Given the description of an element on the screen output the (x, y) to click on. 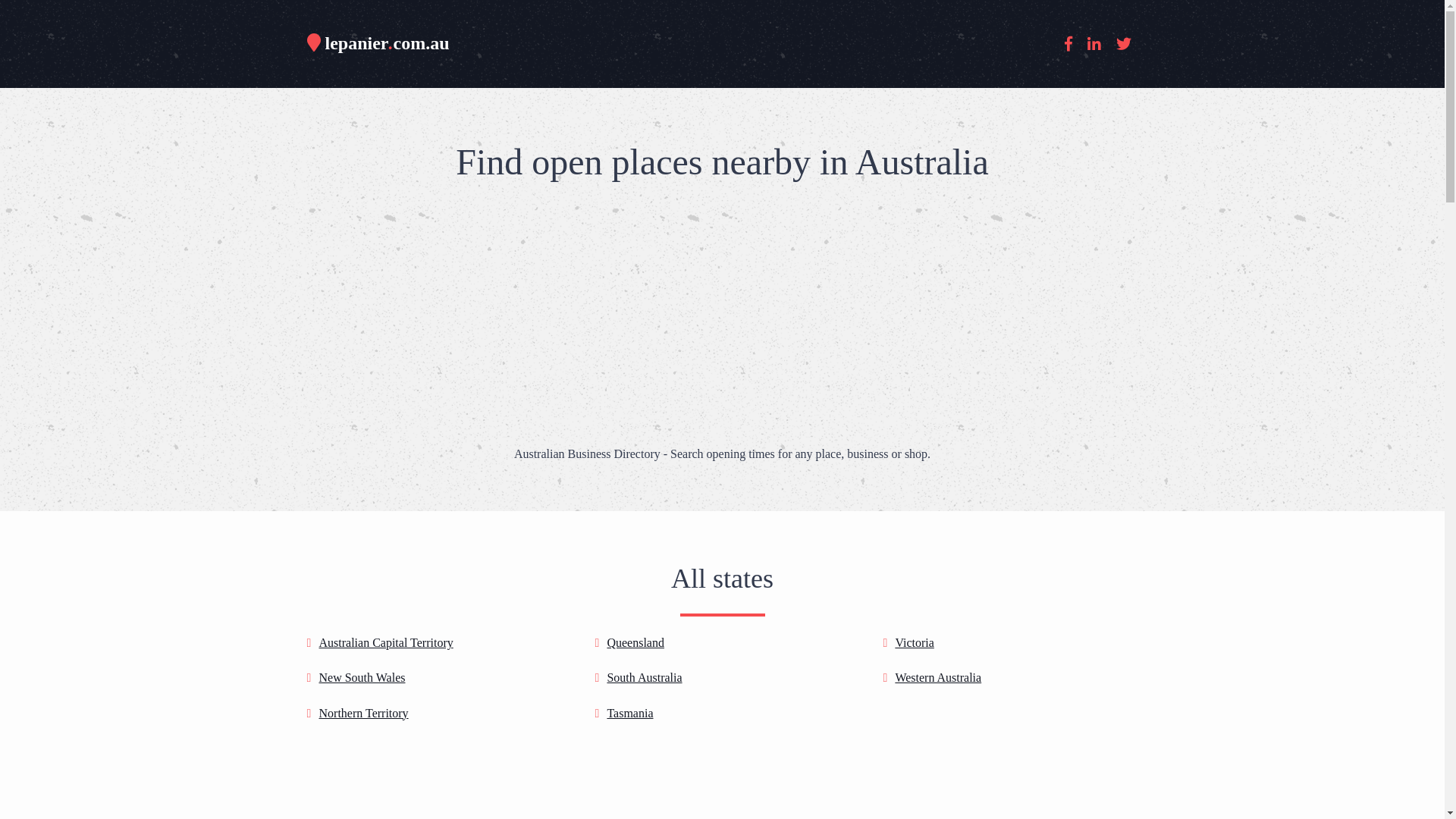
lepanier.com.au Element type: text (377, 43)
Tasmania Element type: text (629, 712)
Australian Capital Territory Element type: text (385, 642)
New South Wales Element type: text (361, 677)
South Australia Element type: text (643, 677)
Victoria Element type: text (913, 642)
Western Australia Element type: text (937, 677)
Northern Territory Element type: text (362, 712)
Advertisement Element type: hover (721, 310)
Queensland Element type: text (635, 642)
